Given the description of an element on the screen output the (x, y) to click on. 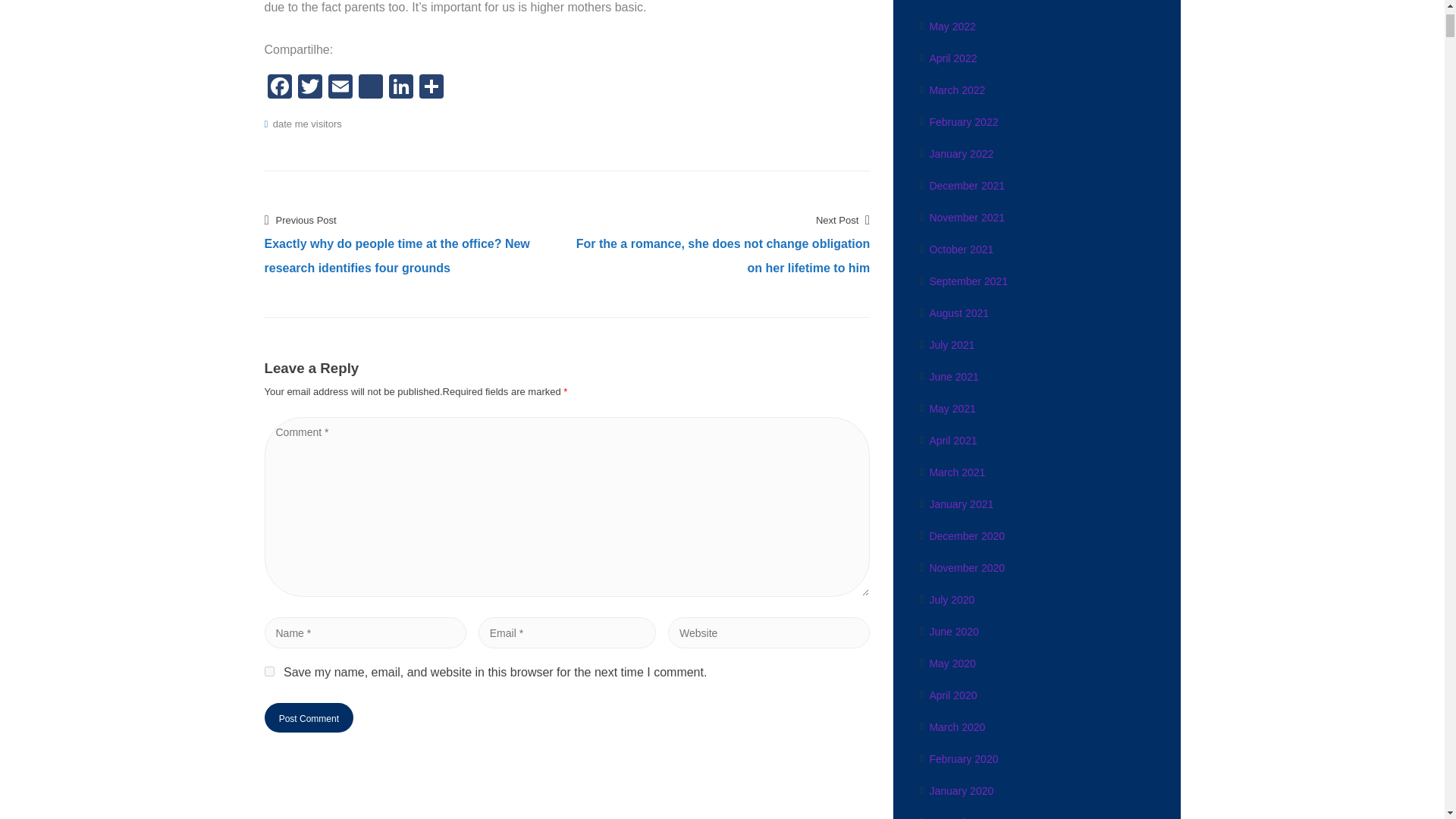
Facebook (278, 88)
Post Comment (308, 717)
WhatsApp (370, 88)
LinkedIn (399, 88)
Email (339, 88)
yes (268, 671)
Twitter (309, 88)
